Given the description of an element on the screen output the (x, y) to click on. 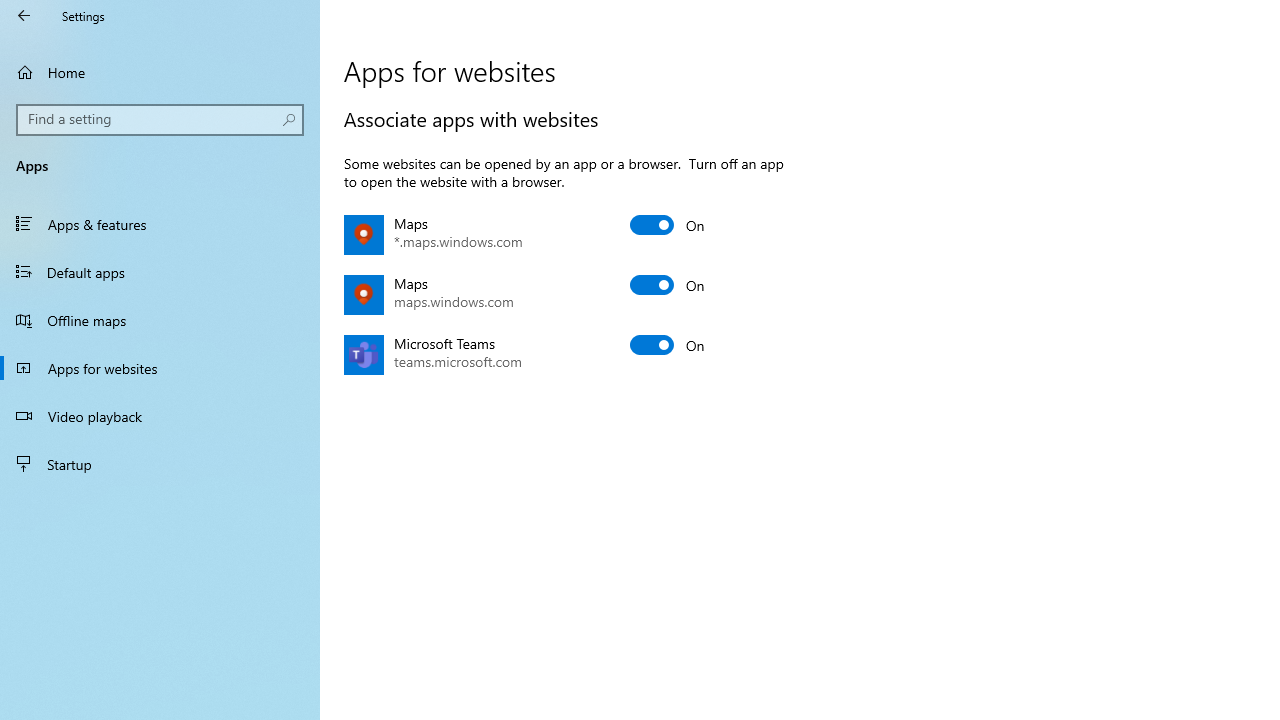
Startup (160, 463)
Apps for websites (160, 367)
Microsoft Teams (667, 344)
Video playback (160, 415)
Offline maps (160, 319)
Maps (667, 284)
Default apps (160, 271)
Apps & features (160, 223)
Home (160, 71)
Search box, Find a setting (160, 119)
